Given the description of an element on the screen output the (x, y) to click on. 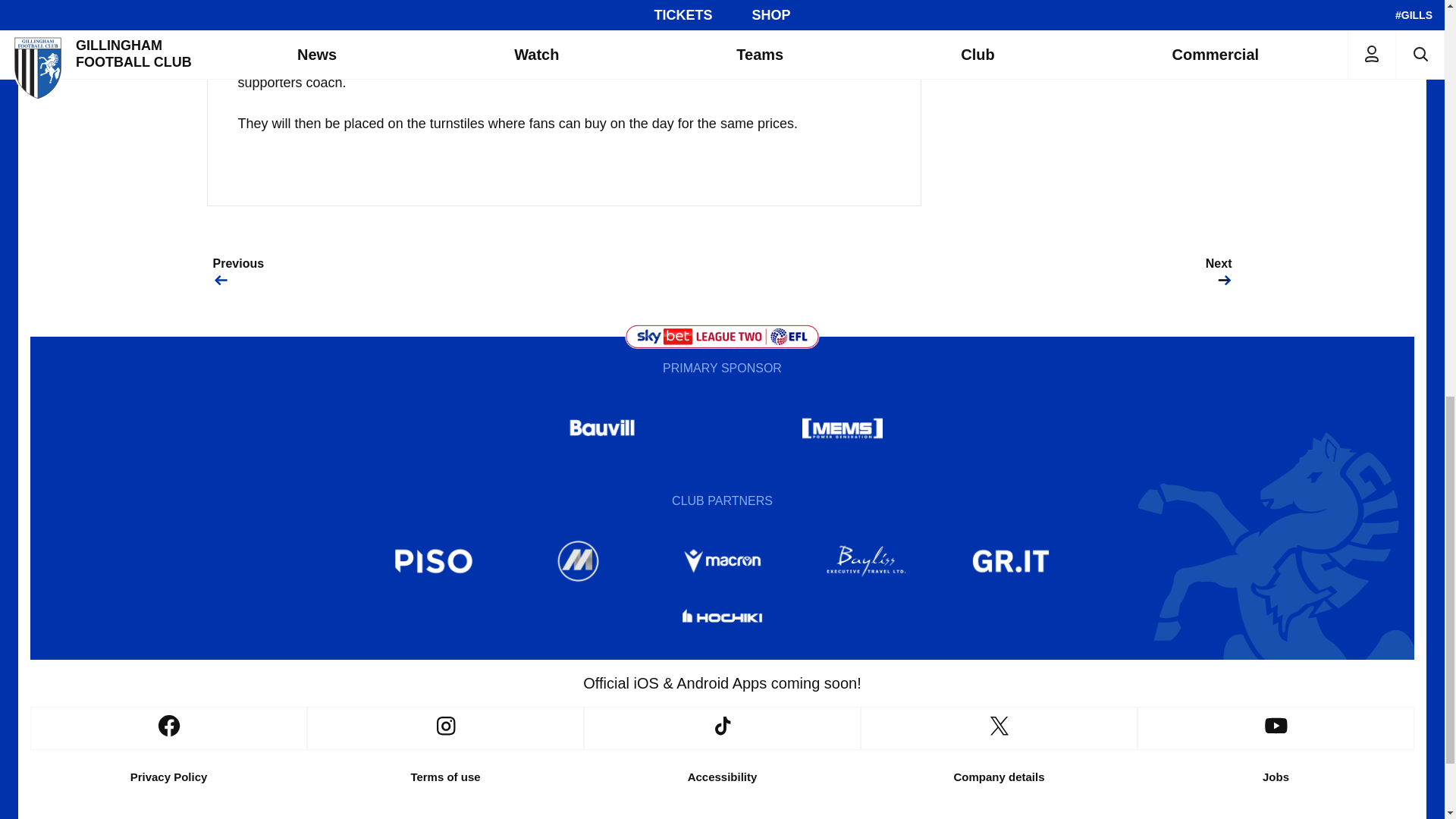
Hochiki (720, 618)
PISO (433, 560)
GRIT (1010, 560)
Bauvill (601, 428)
MEMS Power Generation (841, 428)
Macron (720, 560)
Magnus Search Recruitment (577, 560)
Bayliss (866, 560)
